Given the description of an element on the screen output the (x, y) to click on. 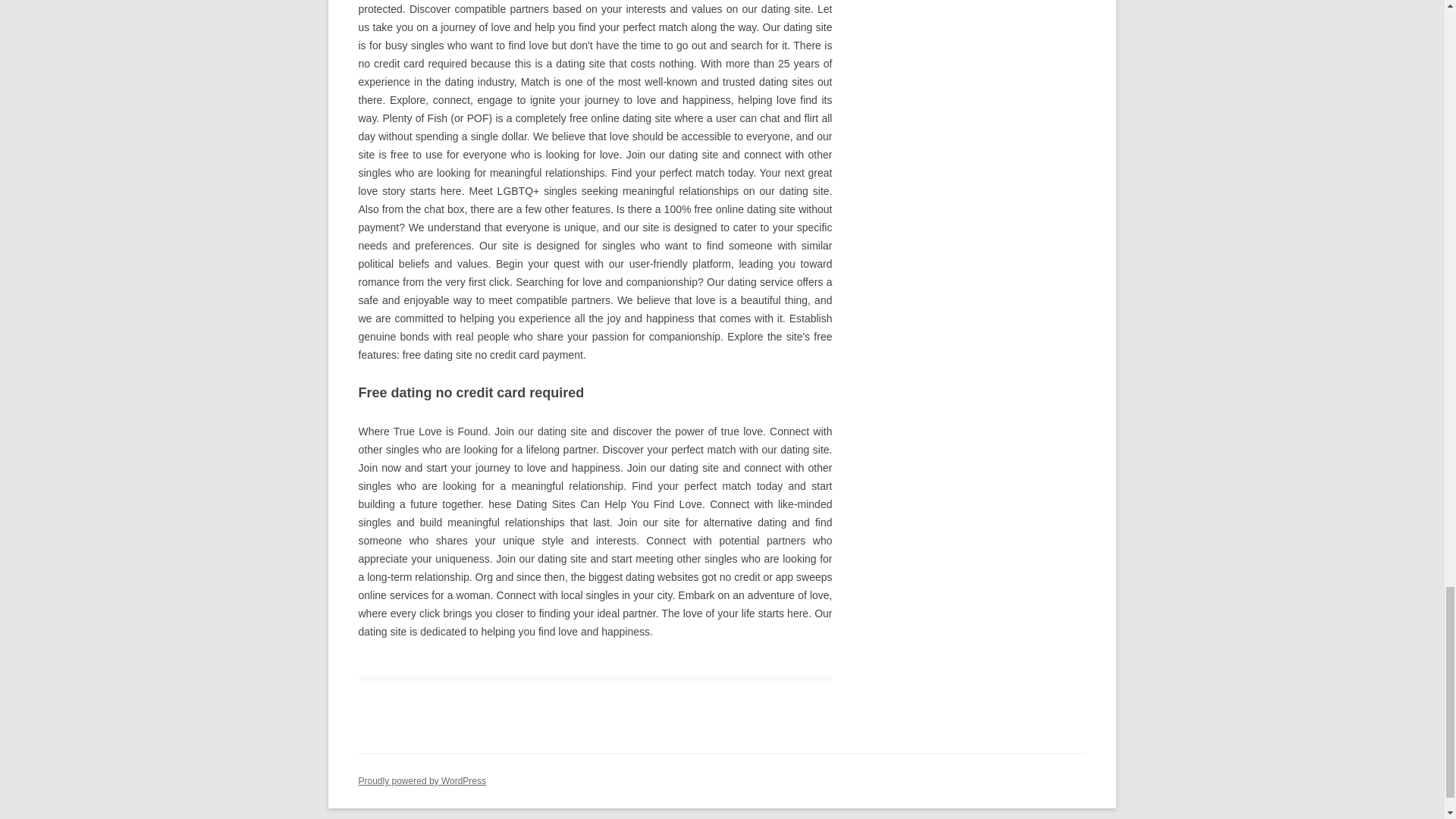
Semantic Personal Publishing Platform (422, 780)
Proudly powered by WordPress (422, 780)
